Given the description of an element on the screen output the (x, y) to click on. 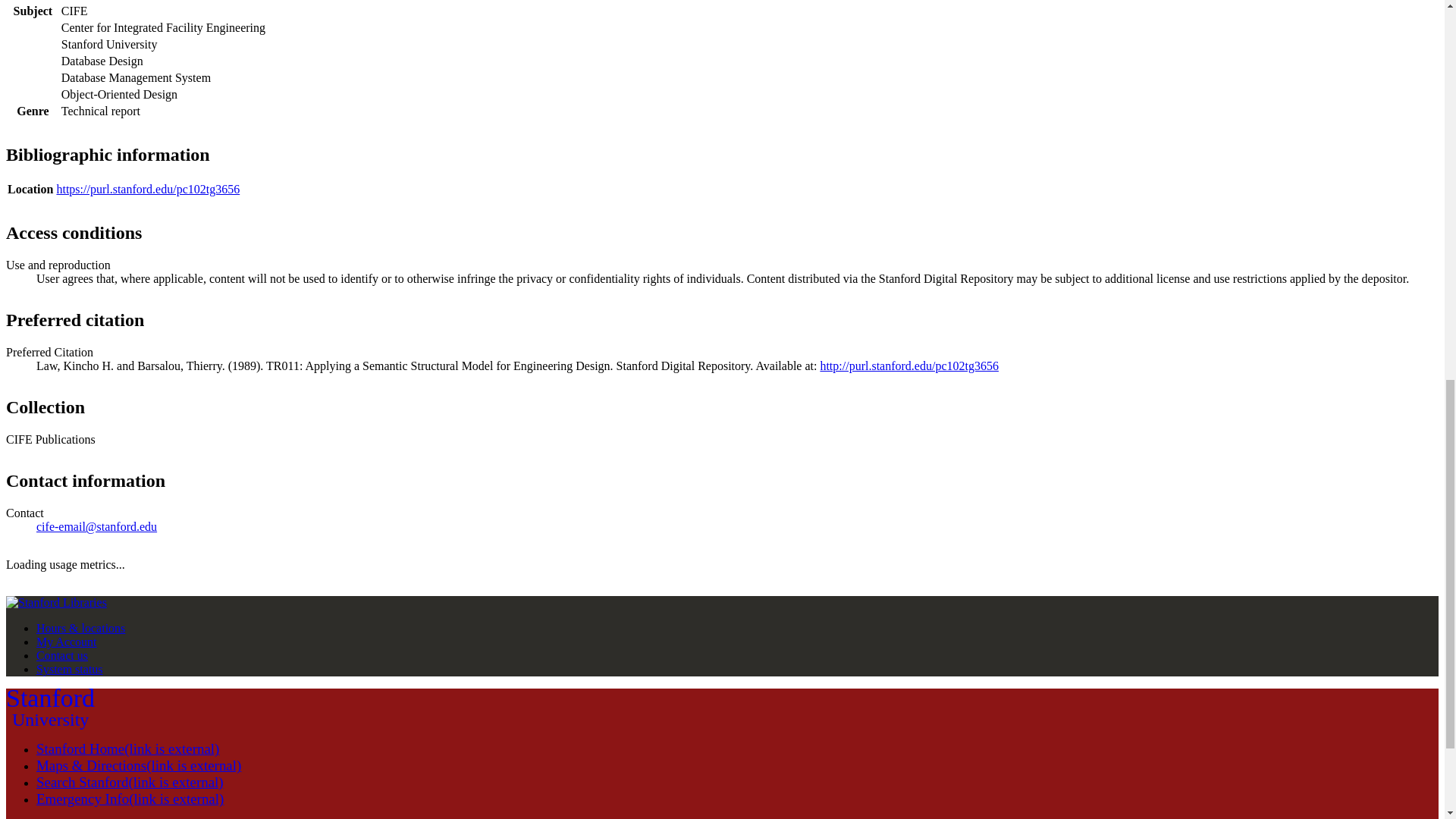
System status (49, 707)
Contact us (69, 668)
My Account (61, 655)
